Given the description of an element on the screen output the (x, y) to click on. 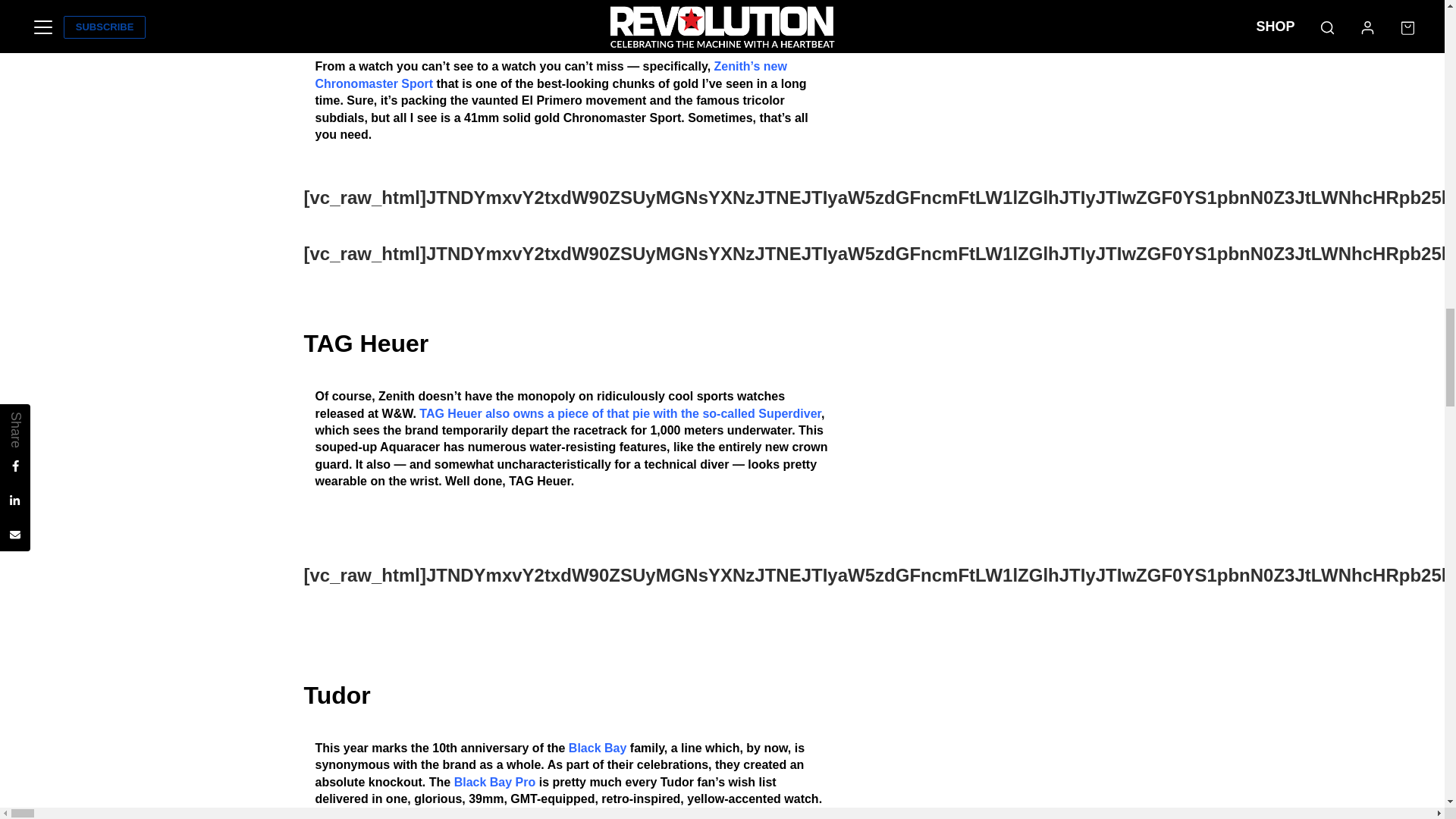
Black Bay (598, 748)
